Given the description of an element on the screen output the (x, y) to click on. 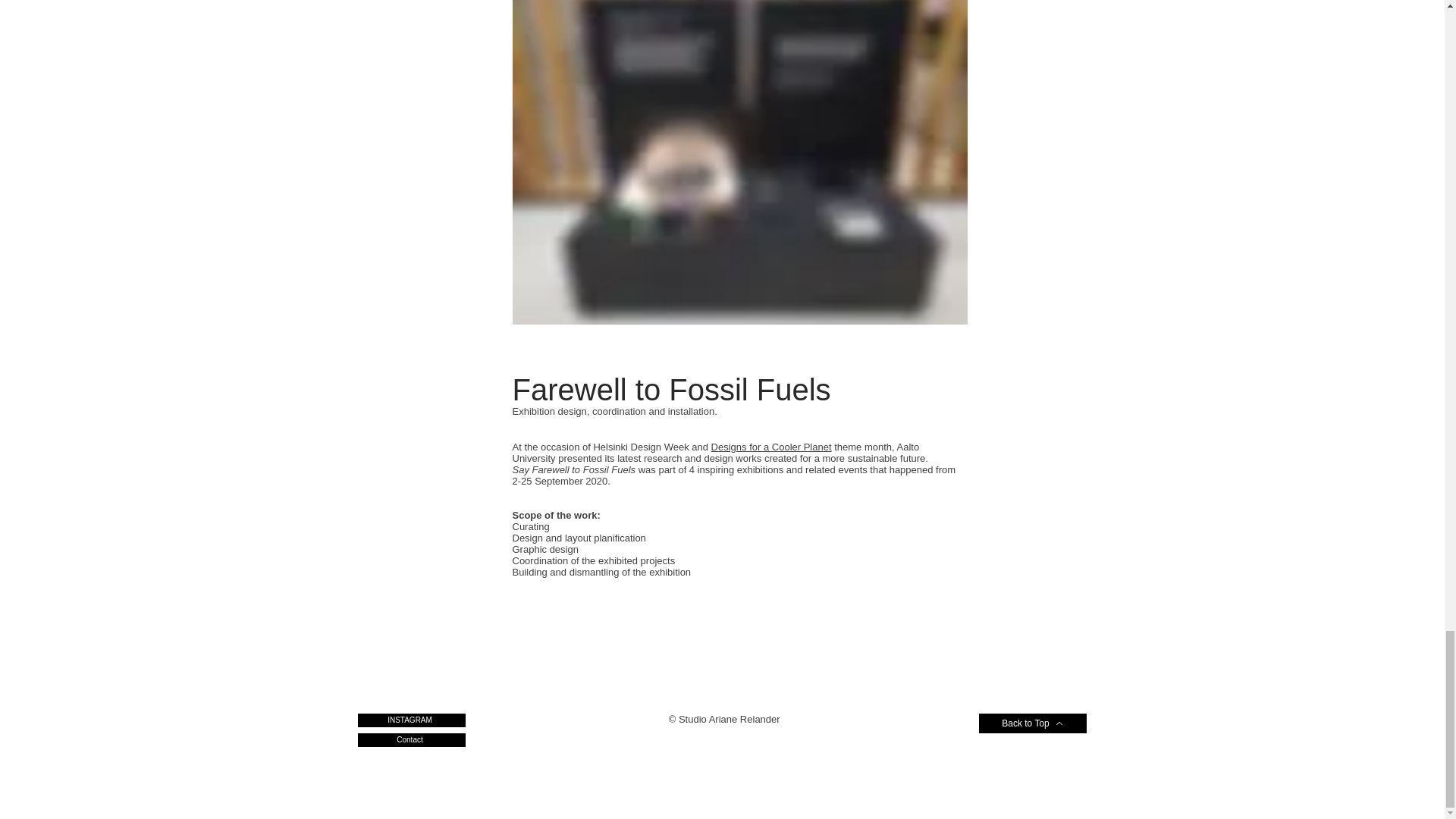
Designs for a Cooler Planet (771, 446)
Back to Top (1032, 723)
INSTAGRAM (411, 720)
Contact (411, 739)
